Given the description of an element on the screen output the (x, y) to click on. 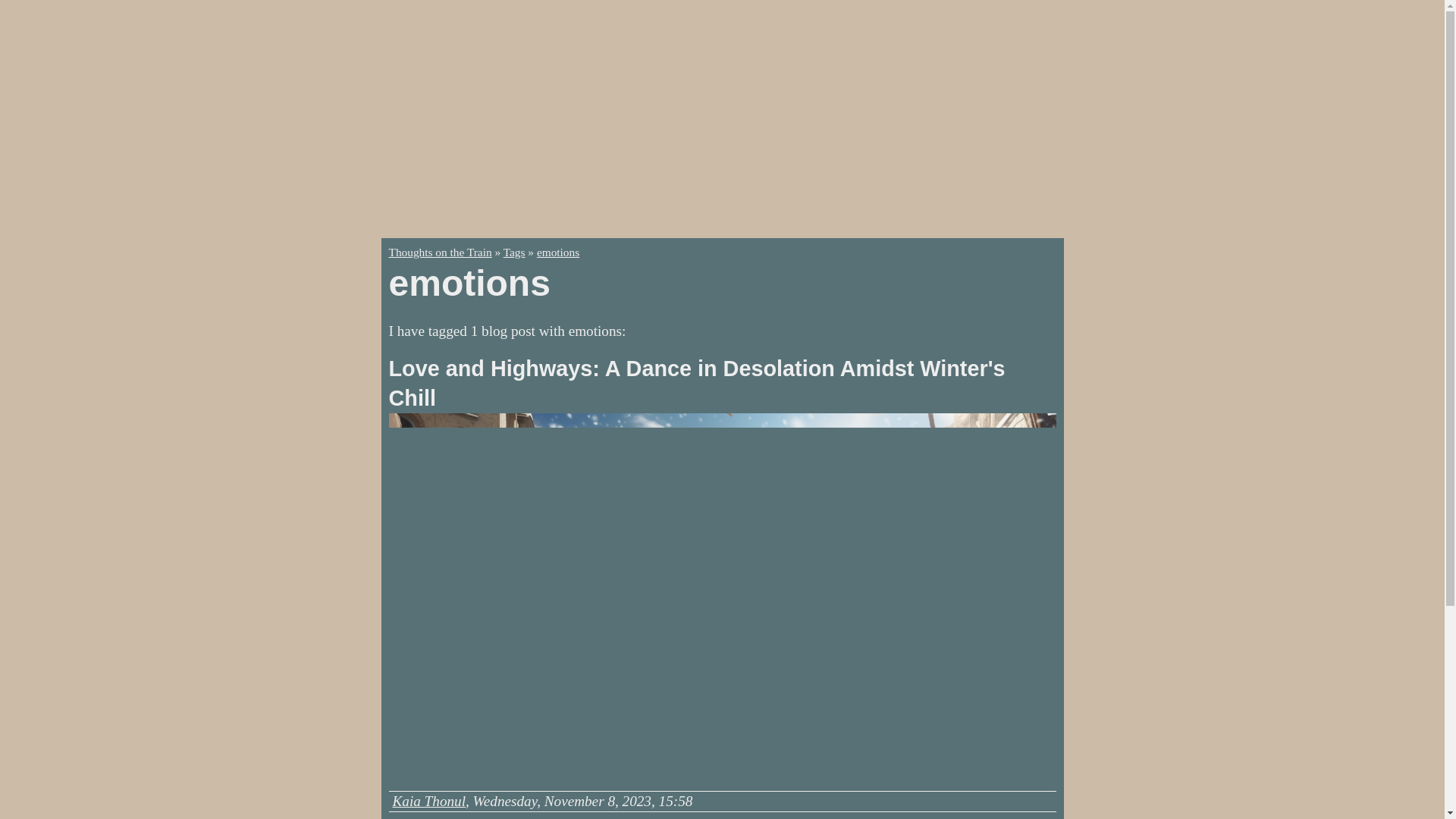
emotions (558, 251)
Kaia Thonul (429, 801)
Thoughts on the Train (440, 251)
Tags (514, 251)
